Given the description of an element on the screen output the (x, y) to click on. 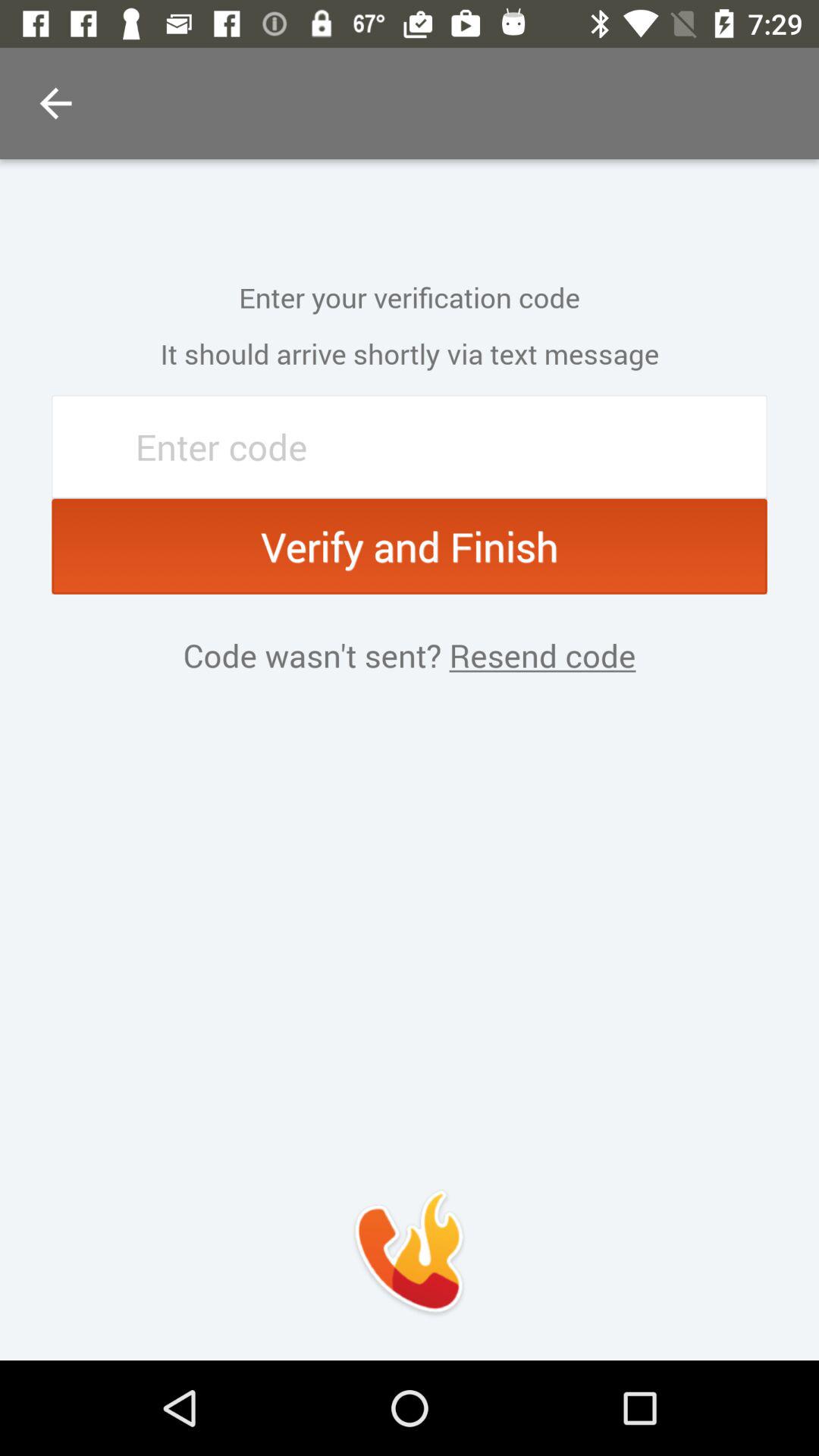
turn on item above the verify and finish (409, 446)
